Given the description of an element on the screen output the (x, y) to click on. 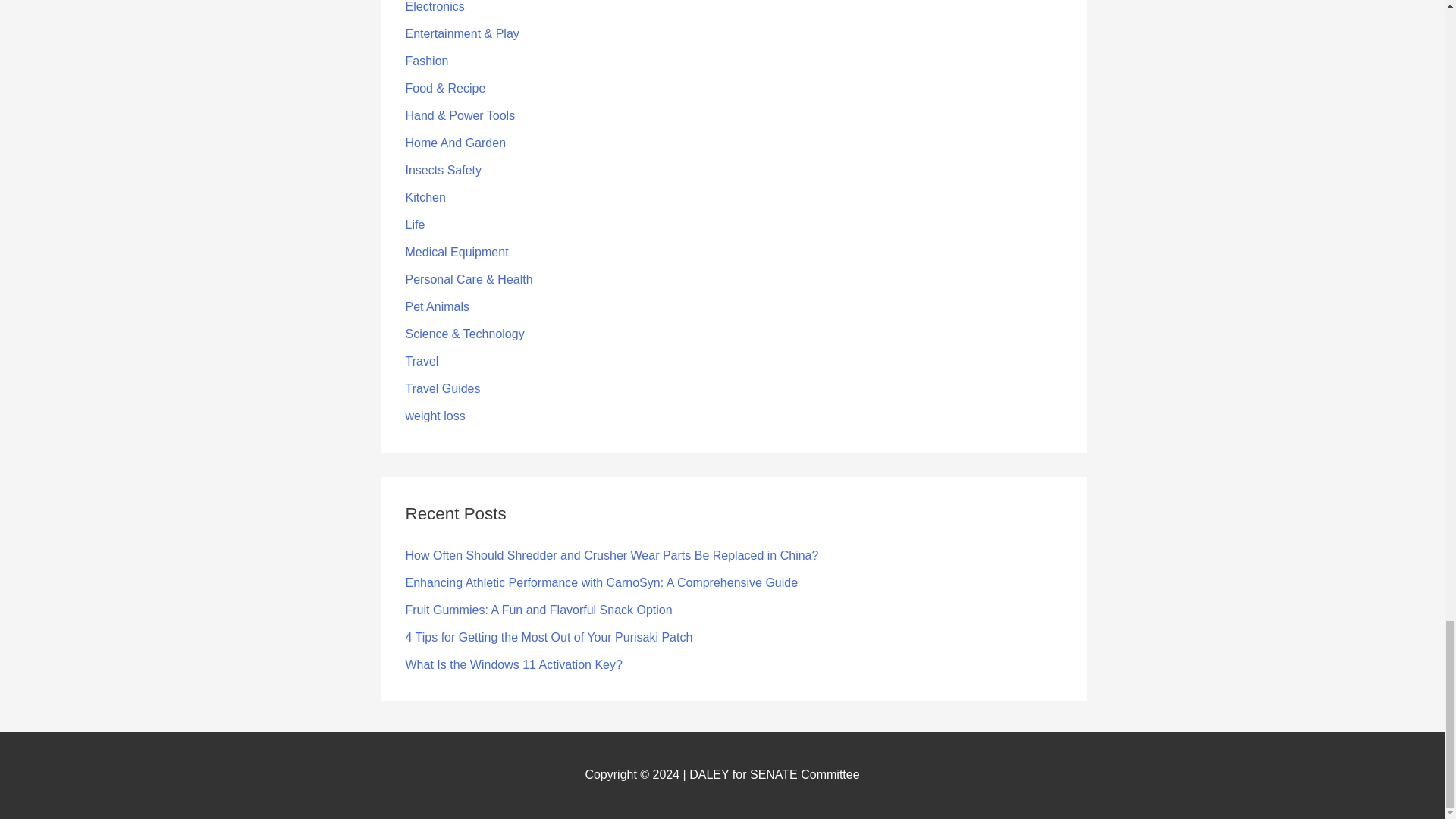
weight loss (434, 415)
Pet Animals (436, 306)
Fashion (426, 60)
Life (414, 224)
Travel (421, 360)
Electronics (434, 6)
Travel Guides (442, 388)
Home And Garden (454, 142)
Medical Equipment (456, 251)
